Given the description of an element on the screen output the (x, y) to click on. 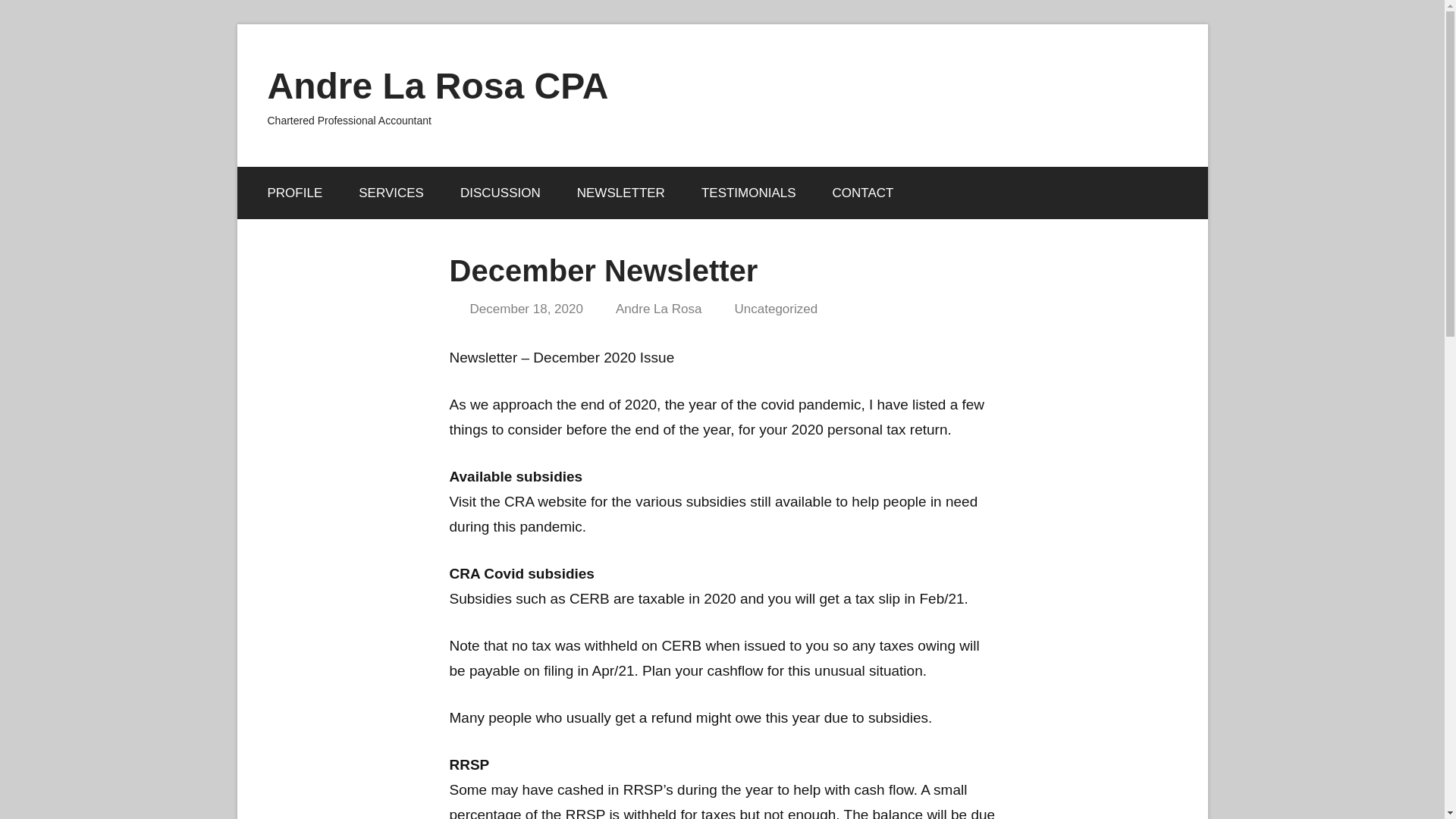
View all posts by Andre La Rosa (658, 309)
December 18, 2020 (526, 309)
DISCUSSION (500, 193)
Andre La Rosa CPA (437, 86)
Uncategorized (776, 309)
Andre La Rosa (658, 309)
CONTACT (862, 193)
TESTIMONIALS (747, 193)
PROFILE (294, 193)
SERVICES (391, 193)
NEWSLETTER (620, 193)
